Given the description of an element on the screen output the (x, y) to click on. 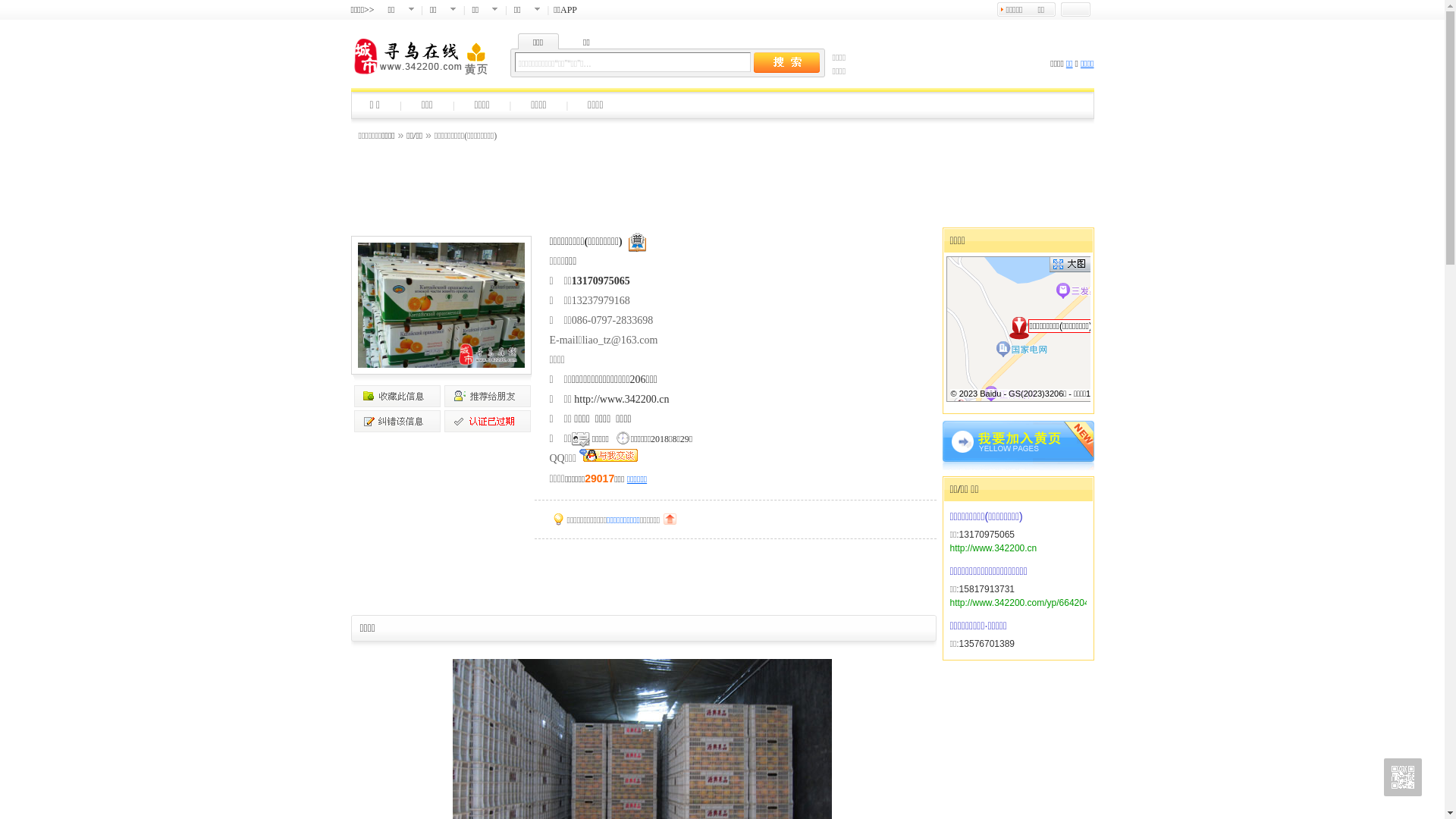
http://www.342200.com/yp/664204x.html Element type: text (1031, 602)
http://www.342200.cn Element type: text (992, 547)
http://www.342200.cn Element type: text (621, 398)
